Given the description of an element on the screen output the (x, y) to click on. 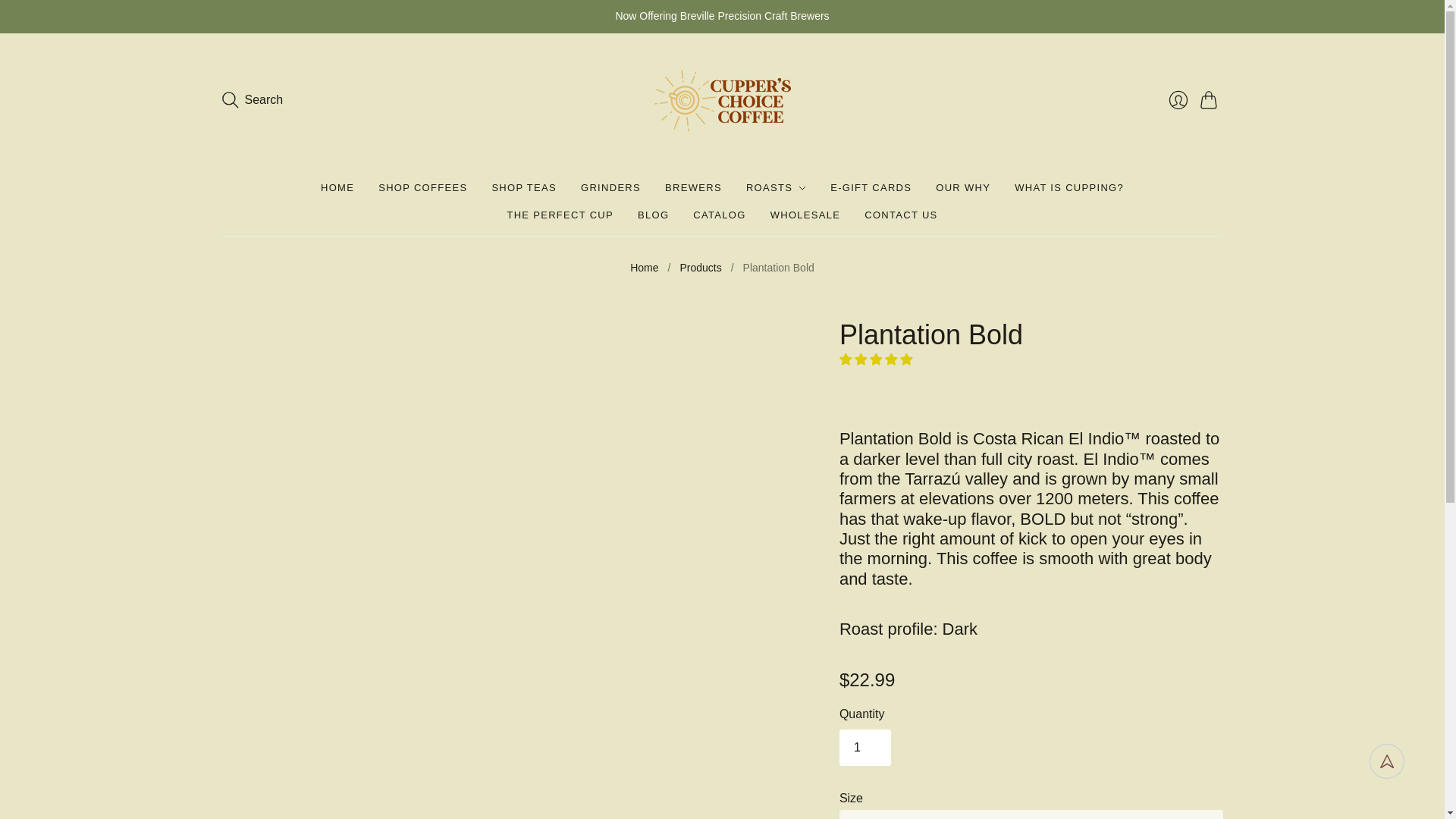
Login (1177, 100)
BLOG (652, 215)
SHOP COFFEES (422, 187)
WHAT IS CUPPING? (1069, 187)
OUR WHY (963, 187)
Cart (1210, 100)
SHOP TEAS (524, 187)
E-GIFT CARDS (870, 187)
BREWERS (693, 187)
HOME (336, 187)
CONTACT US (900, 215)
Search (251, 99)
WHOLESALE (805, 215)
1 (865, 747)
CATALOG (719, 215)
